Given the description of an element on the screen output the (x, y) to click on. 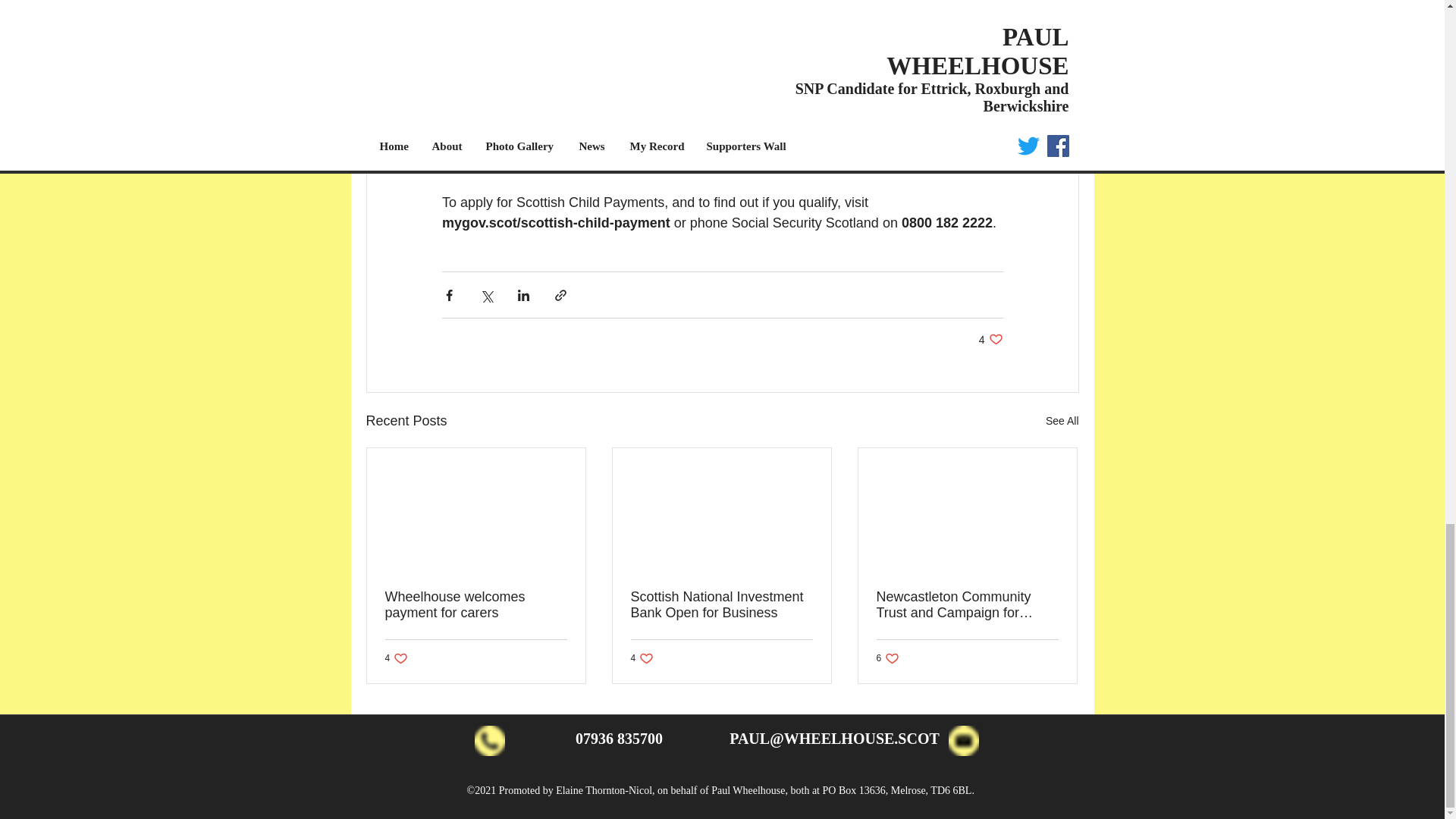
See All (1061, 421)
Scottish National Investment Bank Open for Business (721, 604)
Wheelhouse welcomes payment for carers (990, 339)
